Given the description of an element on the screen output the (x, y) to click on. 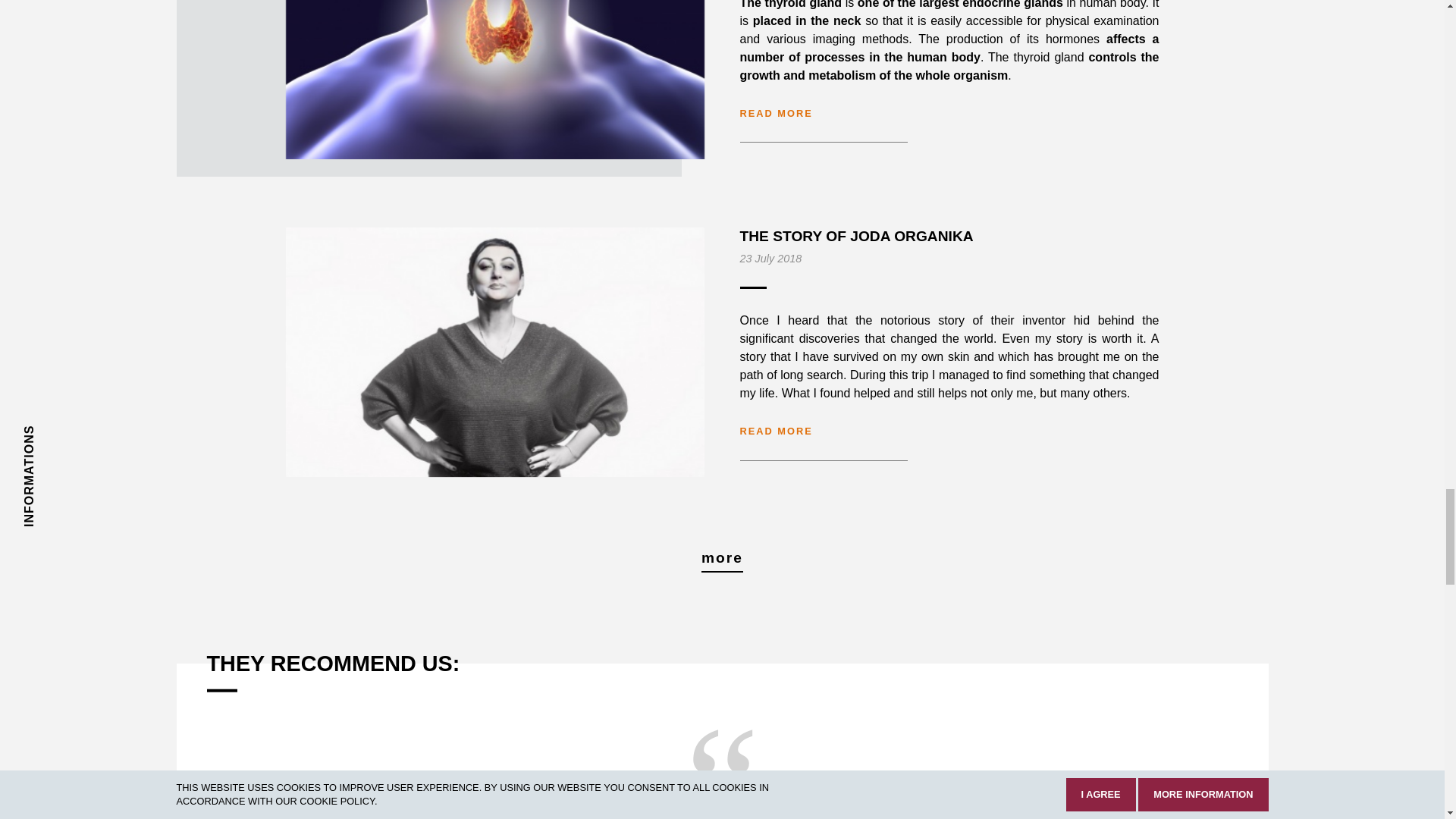
THYROID DISEASES (494, 79)
THE STORY OF JODA ORGANIKA (494, 351)
